Given the description of an element on the screen output the (x, y) to click on. 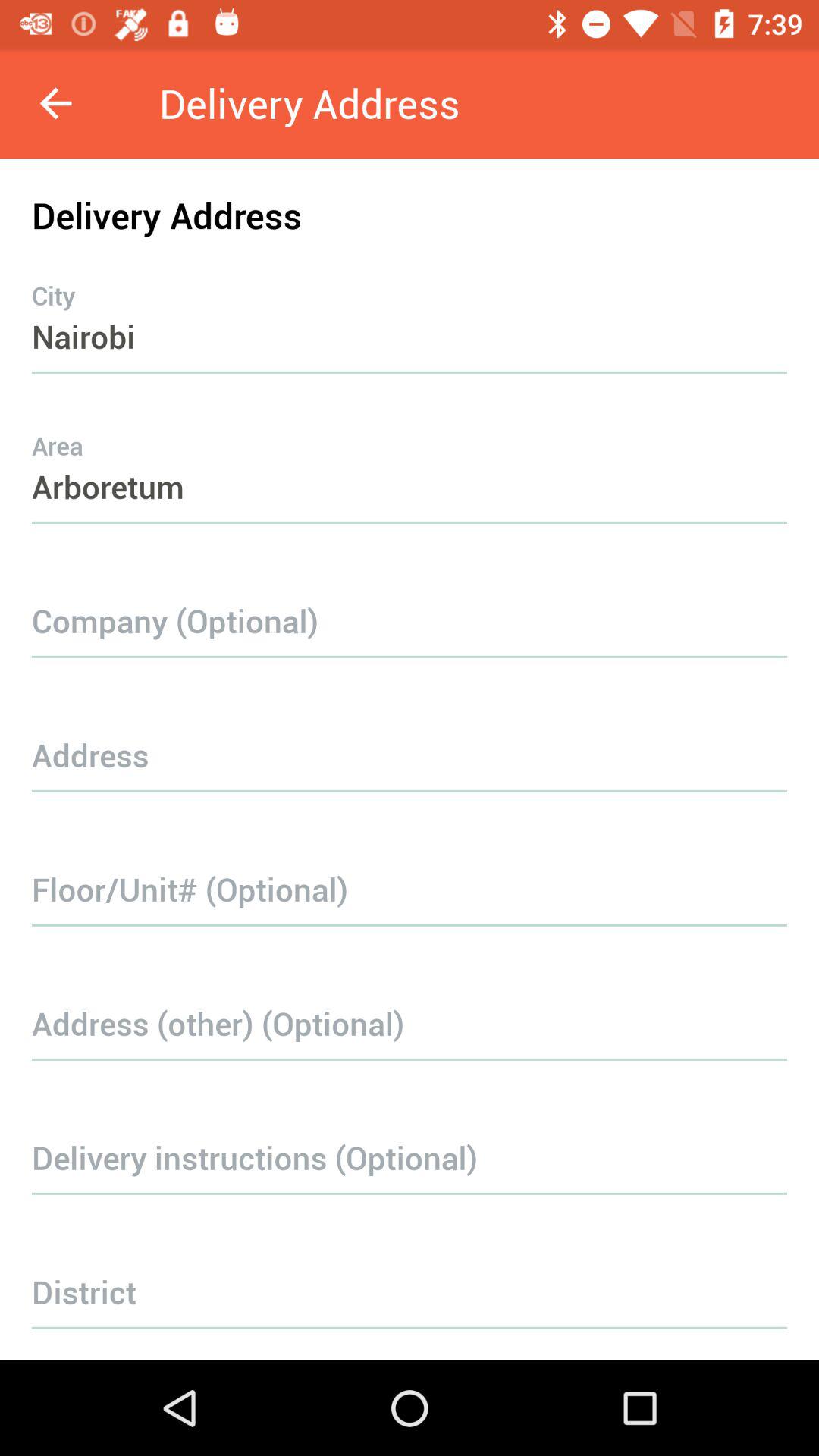
choose arboretum item (409, 456)
